Given the description of an element on the screen output the (x, y) to click on. 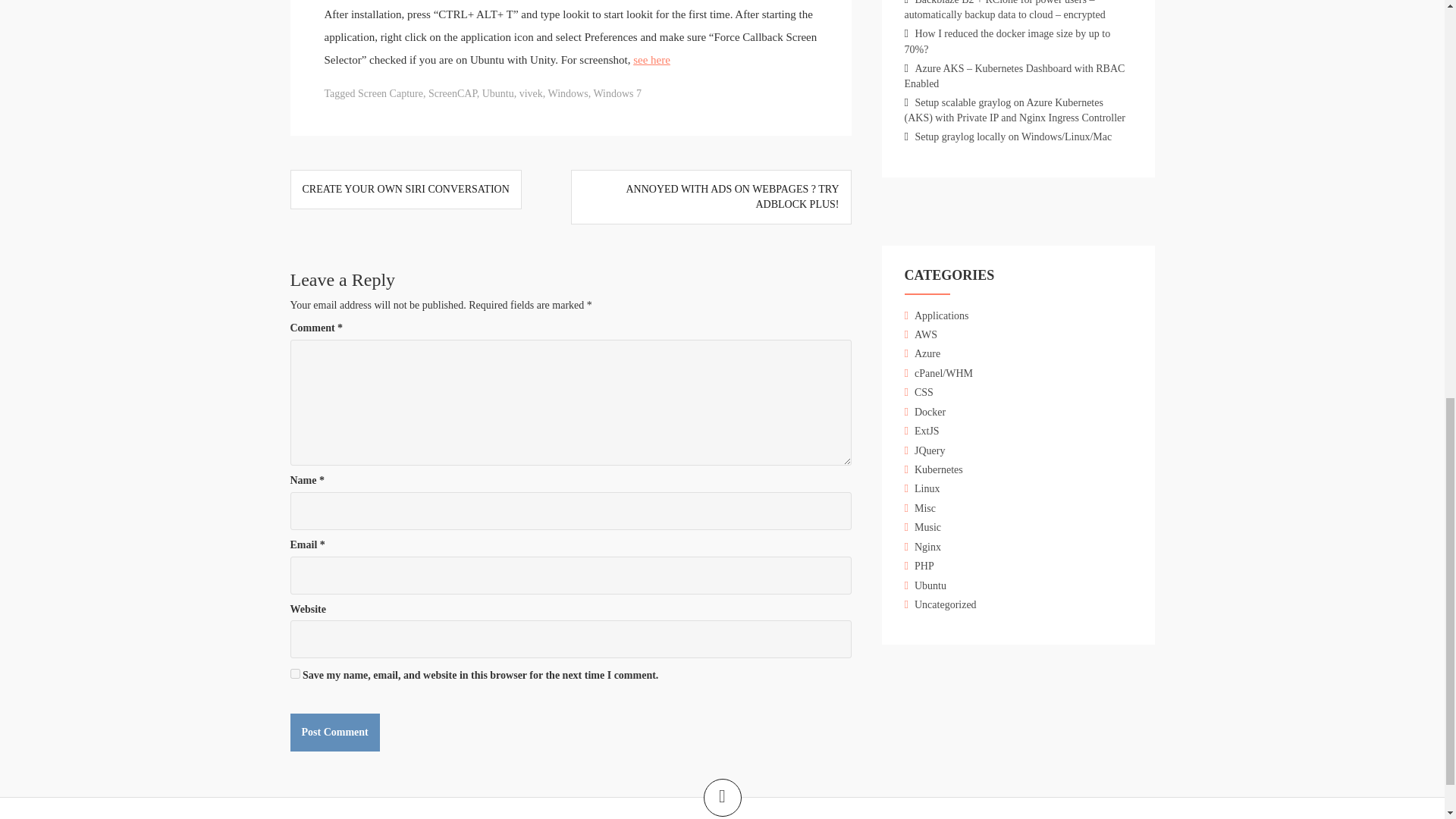
AWS (925, 334)
Music (927, 527)
see here (651, 60)
CSS (923, 392)
Windows 7 (617, 93)
ScreenCAP (452, 93)
vivek (531, 93)
Windows (568, 93)
Post Comment (333, 732)
Docker (929, 411)
